Given the description of an element on the screen output the (x, y) to click on. 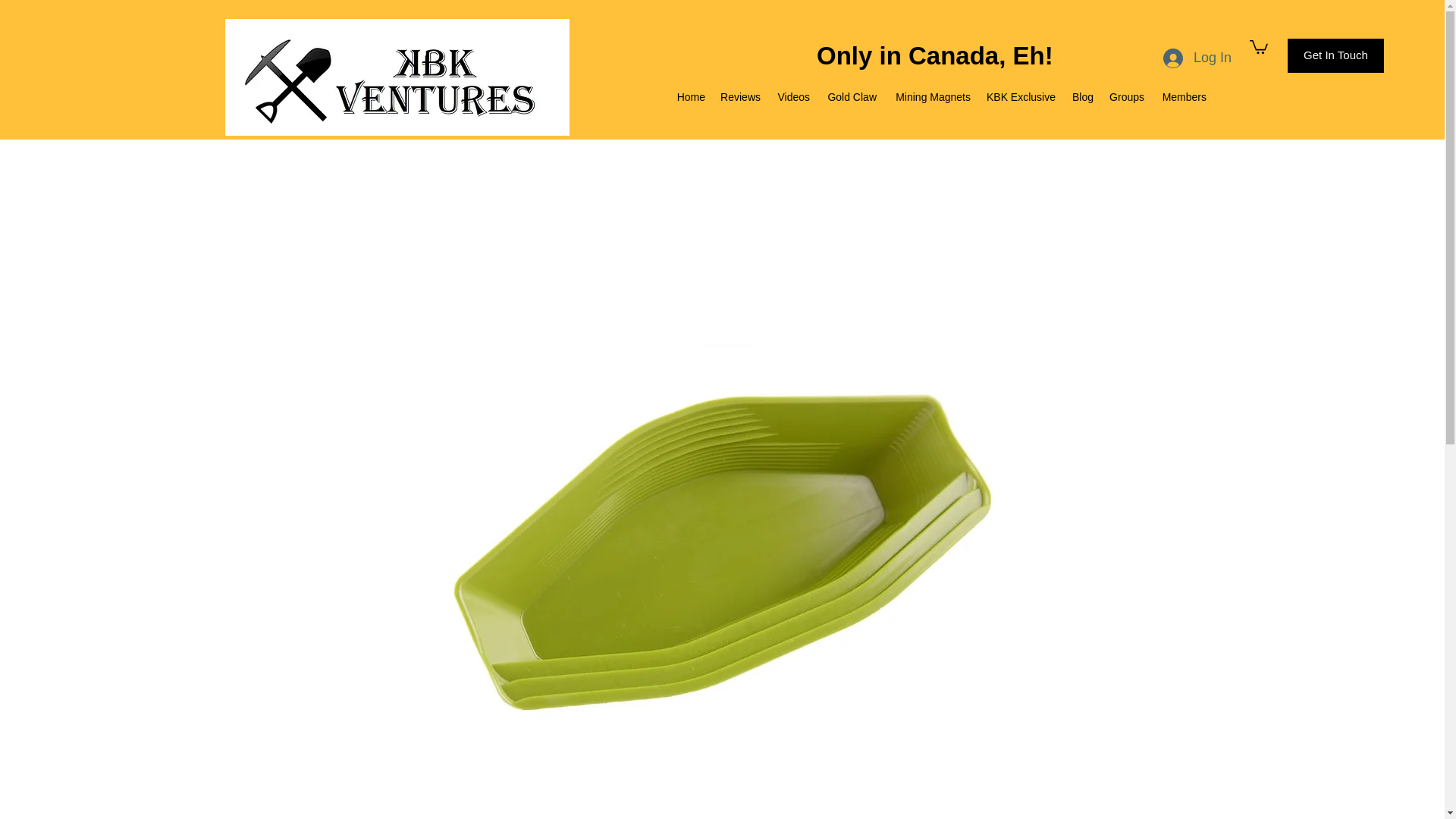
Mining Magnets (930, 97)
Groups (1125, 97)
Home (690, 97)
Log In (1197, 58)
KBK Exclusive (1020, 97)
Videos (792, 97)
Get In Touch (1335, 55)
Reviews (740, 97)
Gold Claw (849, 97)
Members (1182, 97)
